Given the description of an element on the screen output the (x, y) to click on. 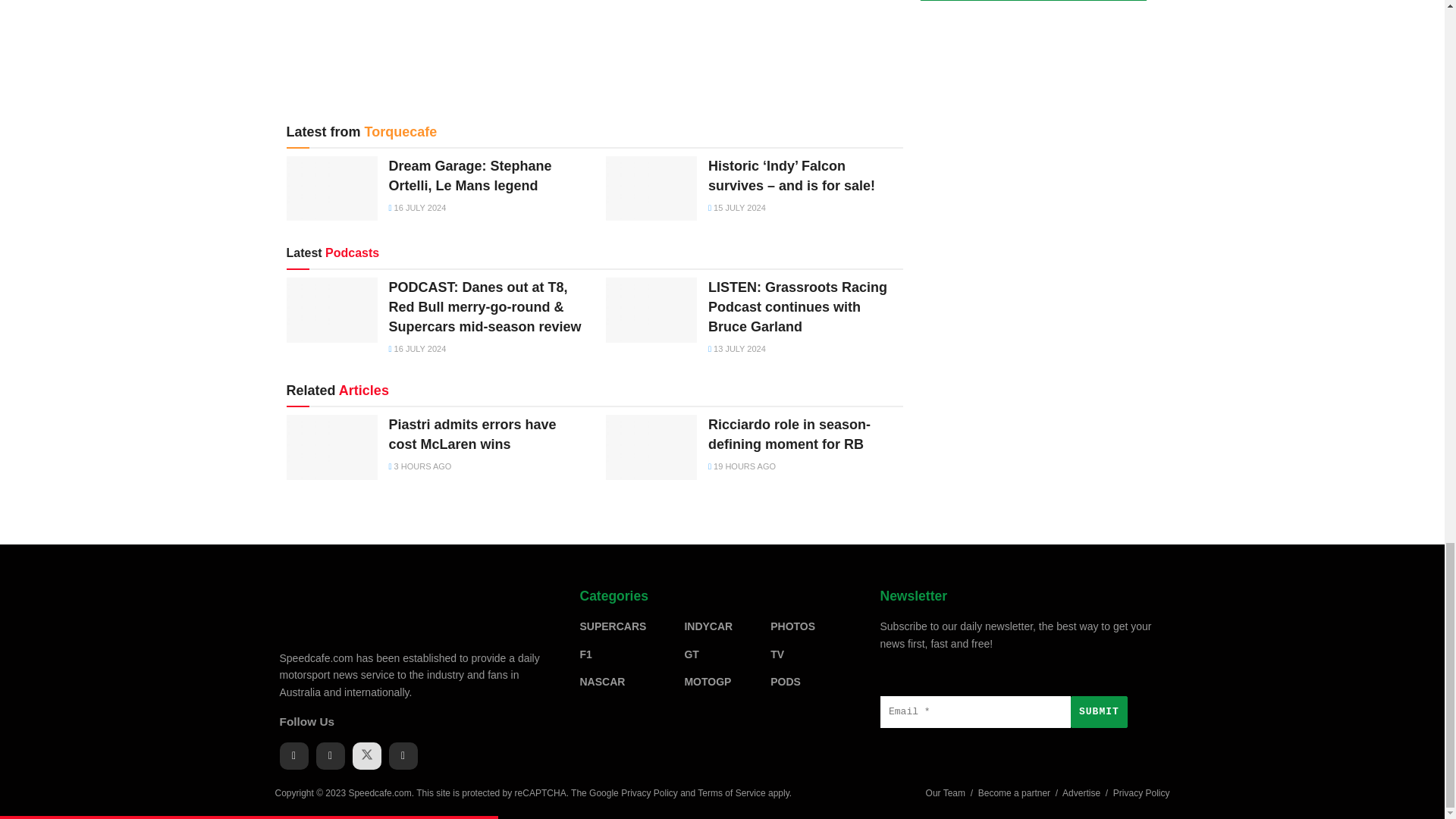
SUBMIT (1098, 712)
